Given the description of an element on the screen output the (x, y) to click on. 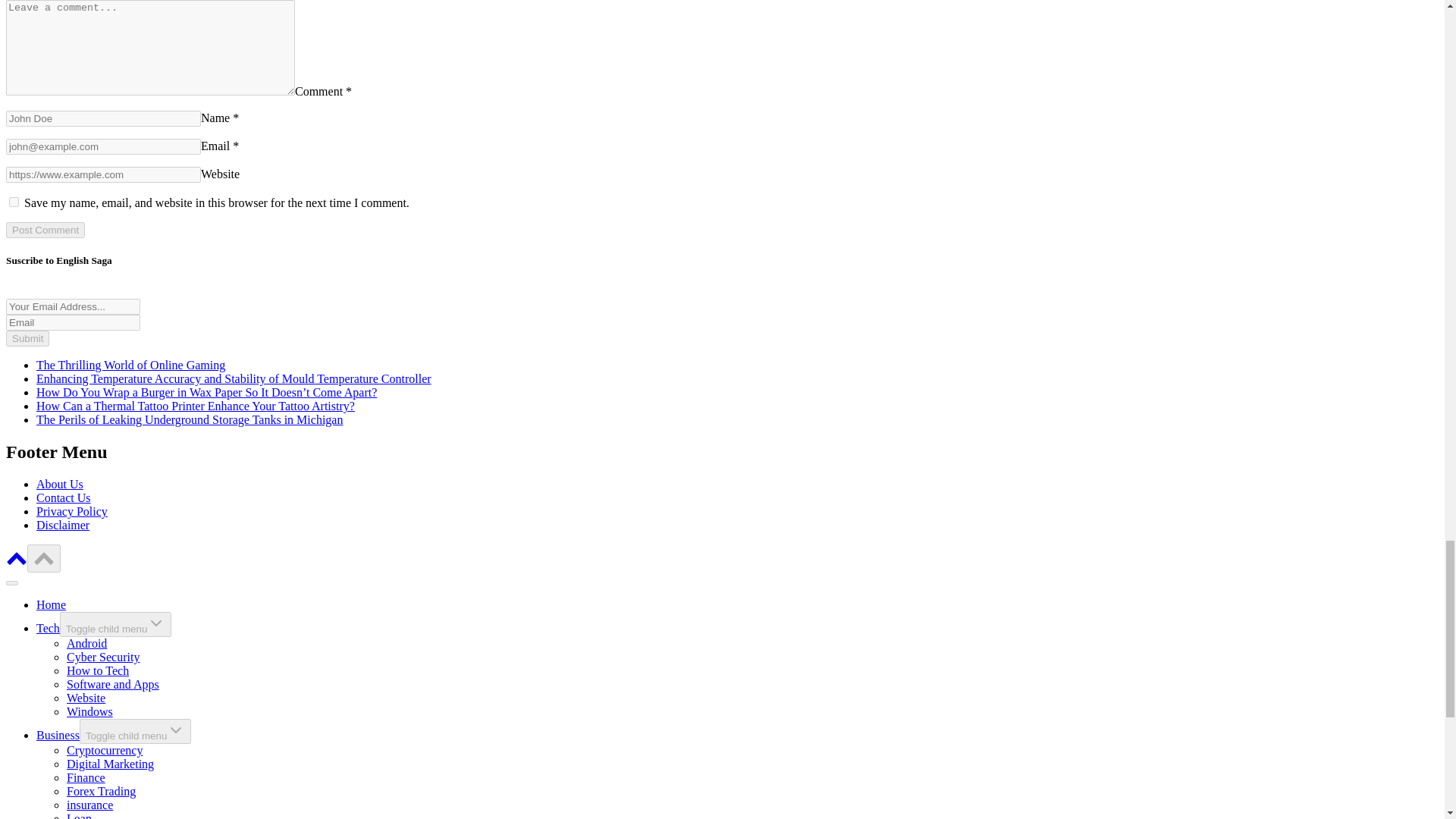
yes (13, 202)
Expand (175, 730)
Expand (156, 623)
Scroll to top (16, 557)
Post Comment (44, 229)
Scroll to top (44, 558)
Scroll to top (44, 557)
Scroll to top (16, 563)
